Given the description of an element on the screen output the (x, y) to click on. 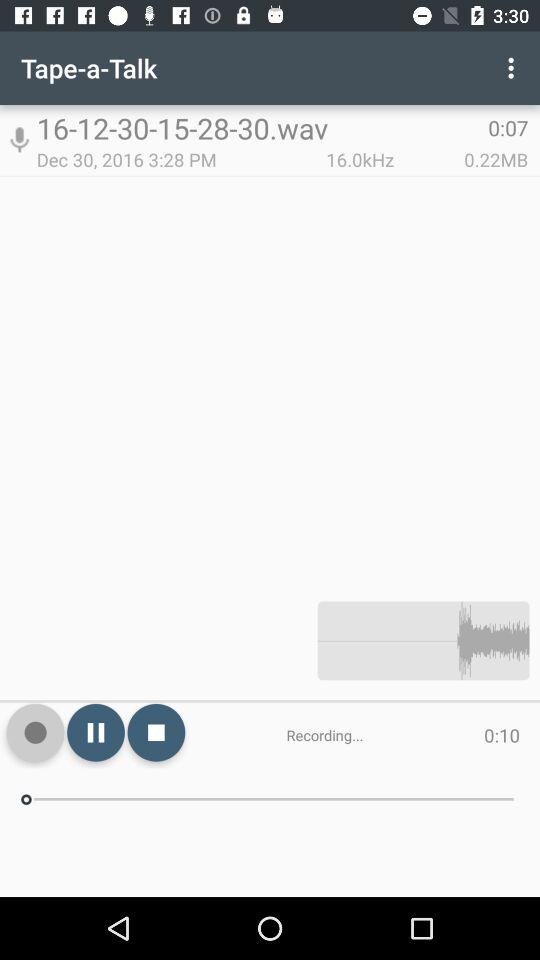
turn on the icon to the right of the 16 12 30 item (513, 67)
